Given the description of an element on the screen output the (x, y) to click on. 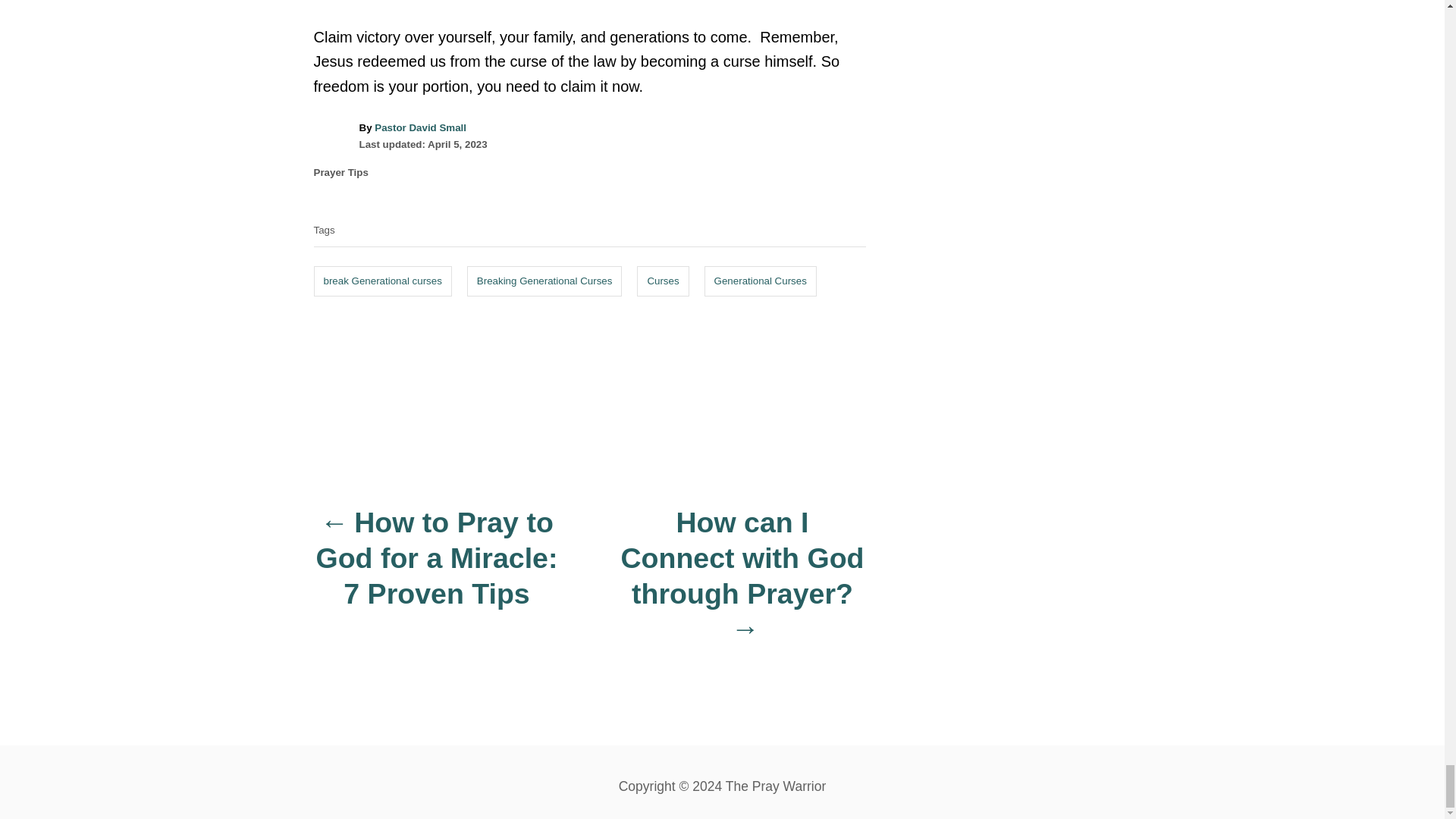
Breaking Generational Curses (545, 281)
How can I Connect with God through Prayer? (741, 583)
Generational Curses (760, 281)
break Generational curses (382, 281)
Curses (662, 281)
Prayer Tips (341, 172)
How to Pray to God for a Miracle: 7 Proven Tips (437, 566)
Pastor David Small (419, 127)
